Given the description of an element on the screen output the (x, y) to click on. 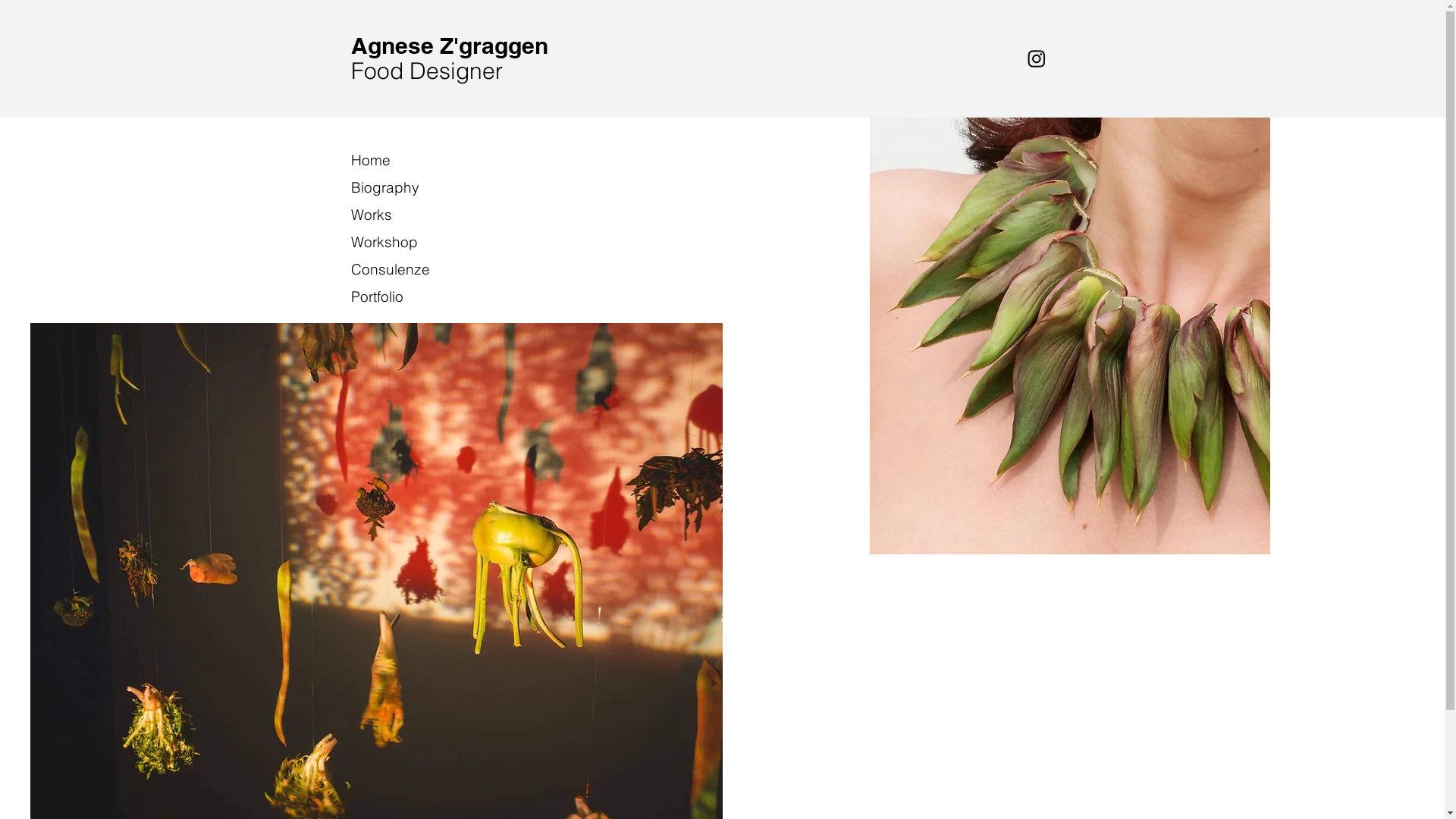
Home Element type: text (404, 159)
Consulenze Element type: text (404, 268)
Agnese Z'graggen 
Food Designer Element type: text (451, 57)
Workshop Element type: text (404, 241)
Works Element type: text (404, 214)
Biography Element type: text (404, 186)
Portfolio Element type: text (404, 296)
